Given the description of an element on the screen output the (x, y) to click on. 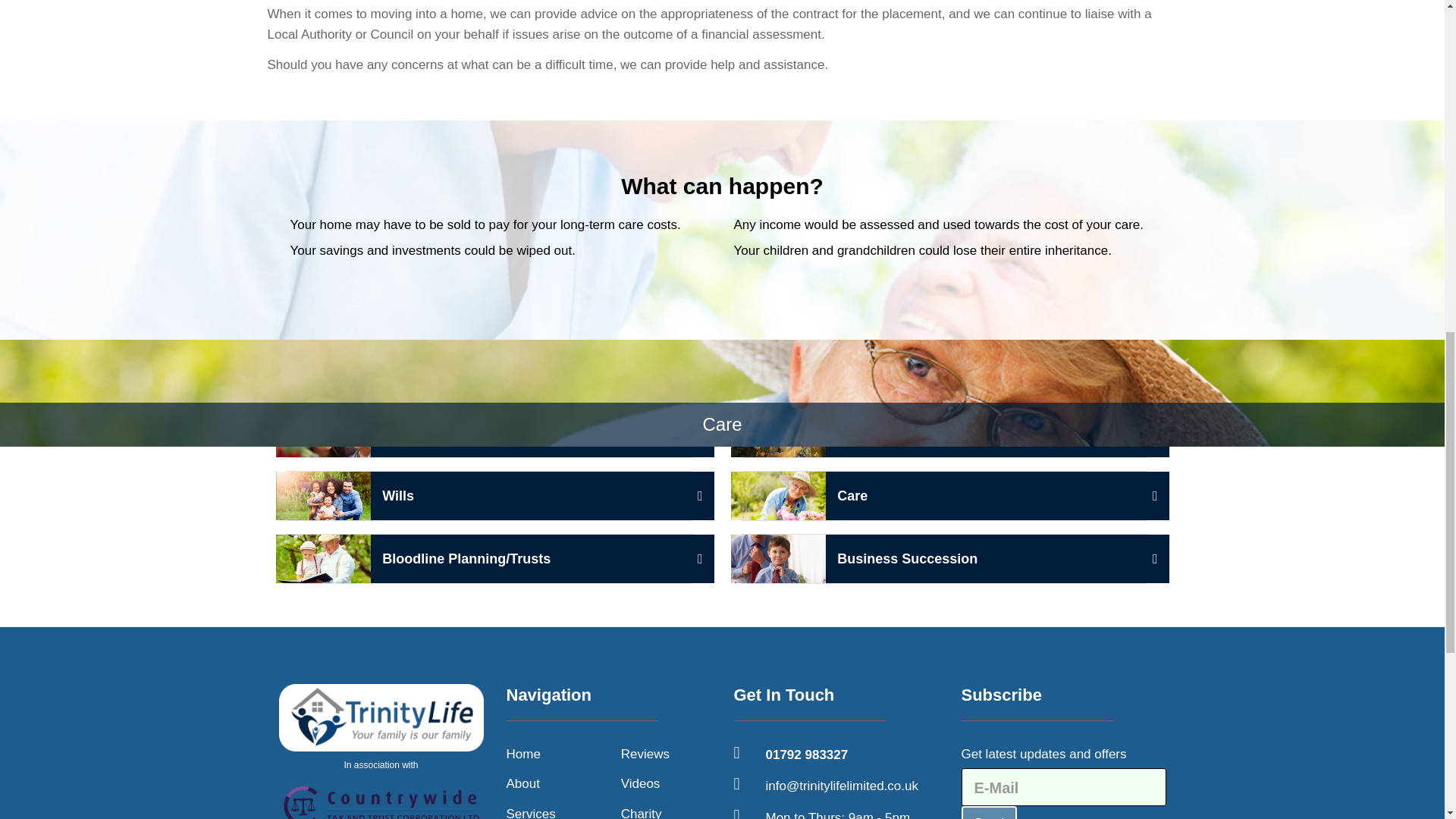
Business Succession (944, 558)
About (523, 783)
Home (381, 751)
Probate (523, 753)
Services (944, 432)
Care (531, 811)
Lasting Powers of Attorney (944, 495)
Wills (489, 432)
